Given the description of an element on the screen output the (x, y) to click on. 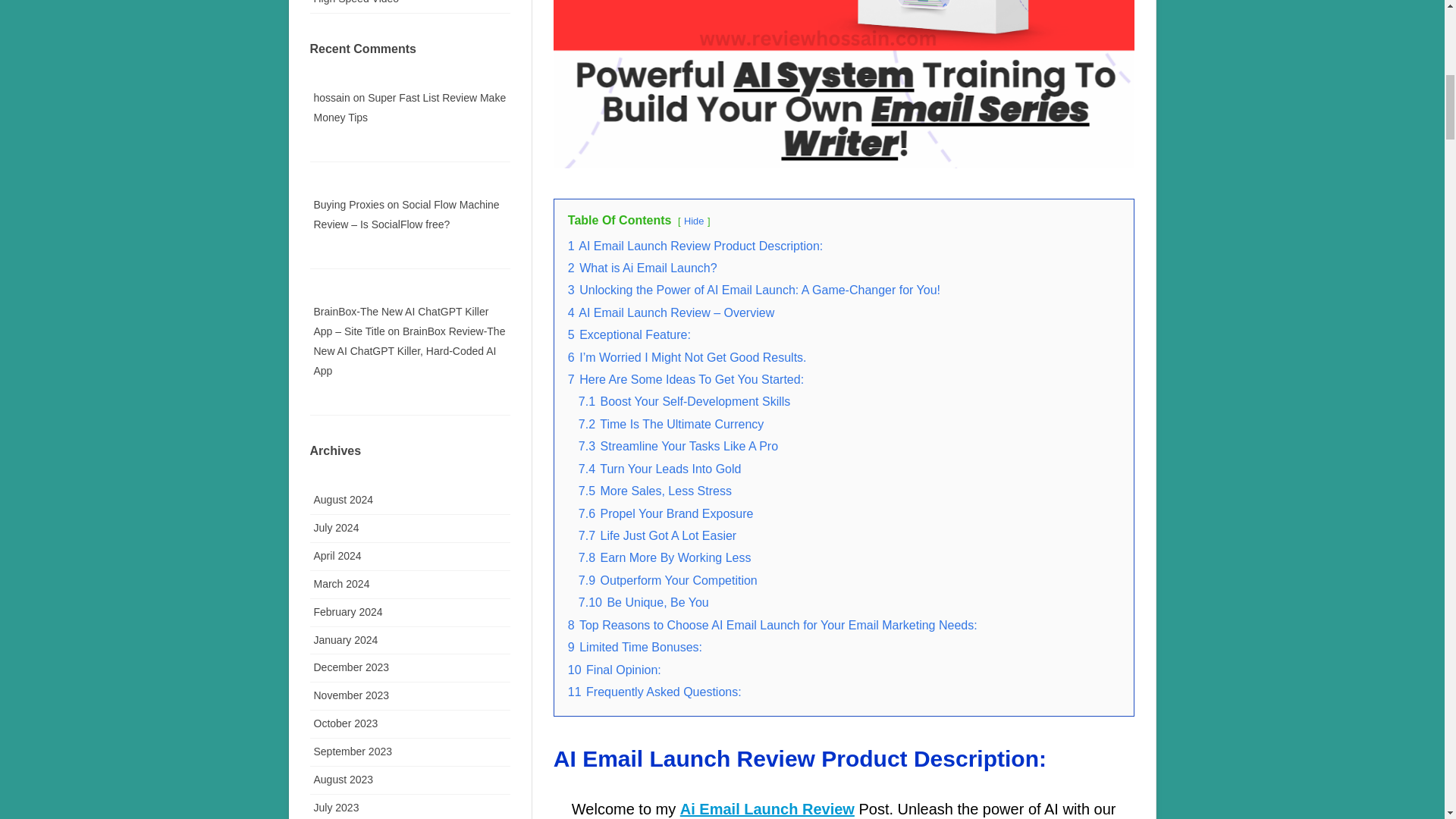
Hide (693, 220)
2 What is Ai Email Launch? (642, 267)
7 Here Are Some Ideas To Get You Started: (685, 379)
1 AI Email Launch Review Product Description: (694, 245)
7.2 Time Is The Ultimate Currency (670, 423)
5 Exceptional Feature: (628, 334)
7.1 Boost Your Self-Development Skills (684, 400)
